Given the description of an element on the screen output the (x, y) to click on. 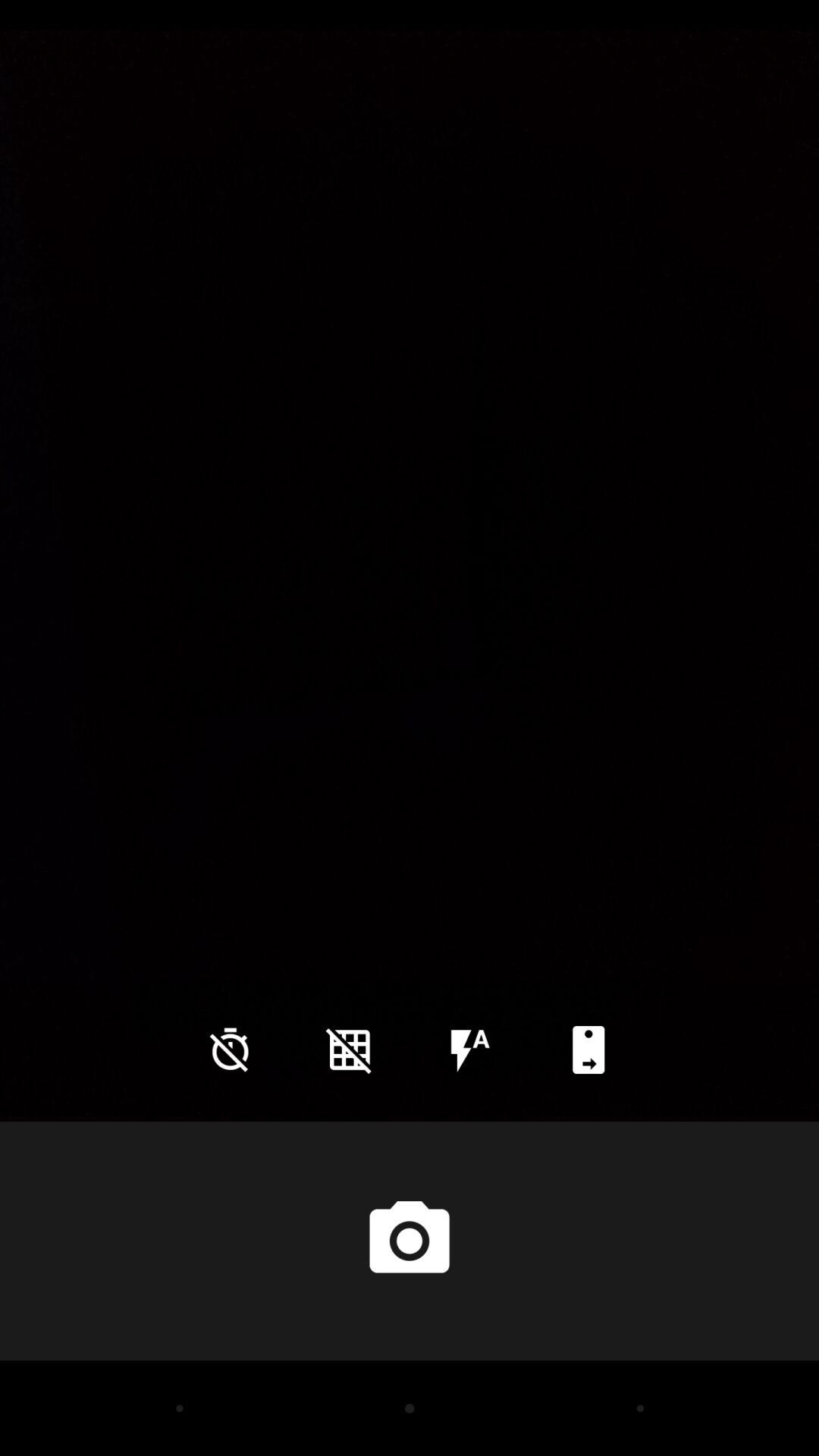
launch the icon at the bottom left corner (230, 1049)
